Given the description of an element on the screen output the (x, y) to click on. 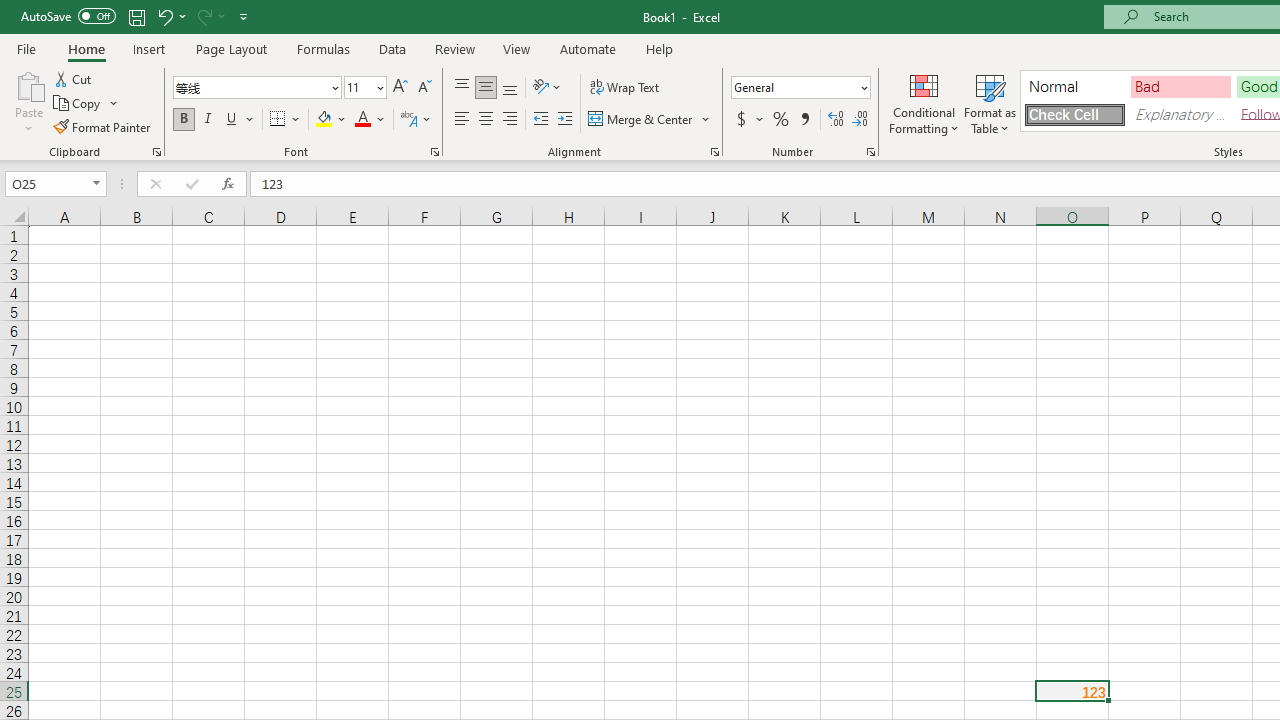
Fill Color (331, 119)
Wrap Text (624, 87)
Decrease Font Size (424, 87)
Cut (73, 78)
Increase Decimal (836, 119)
Merge & Center (649, 119)
Bottom Align (509, 87)
Borders (285, 119)
Show Phonetic Field (408, 119)
Underline (232, 119)
Font Size (358, 87)
Show Phonetic Field (416, 119)
Center (485, 119)
